Given the description of an element on the screen output the (x, y) to click on. 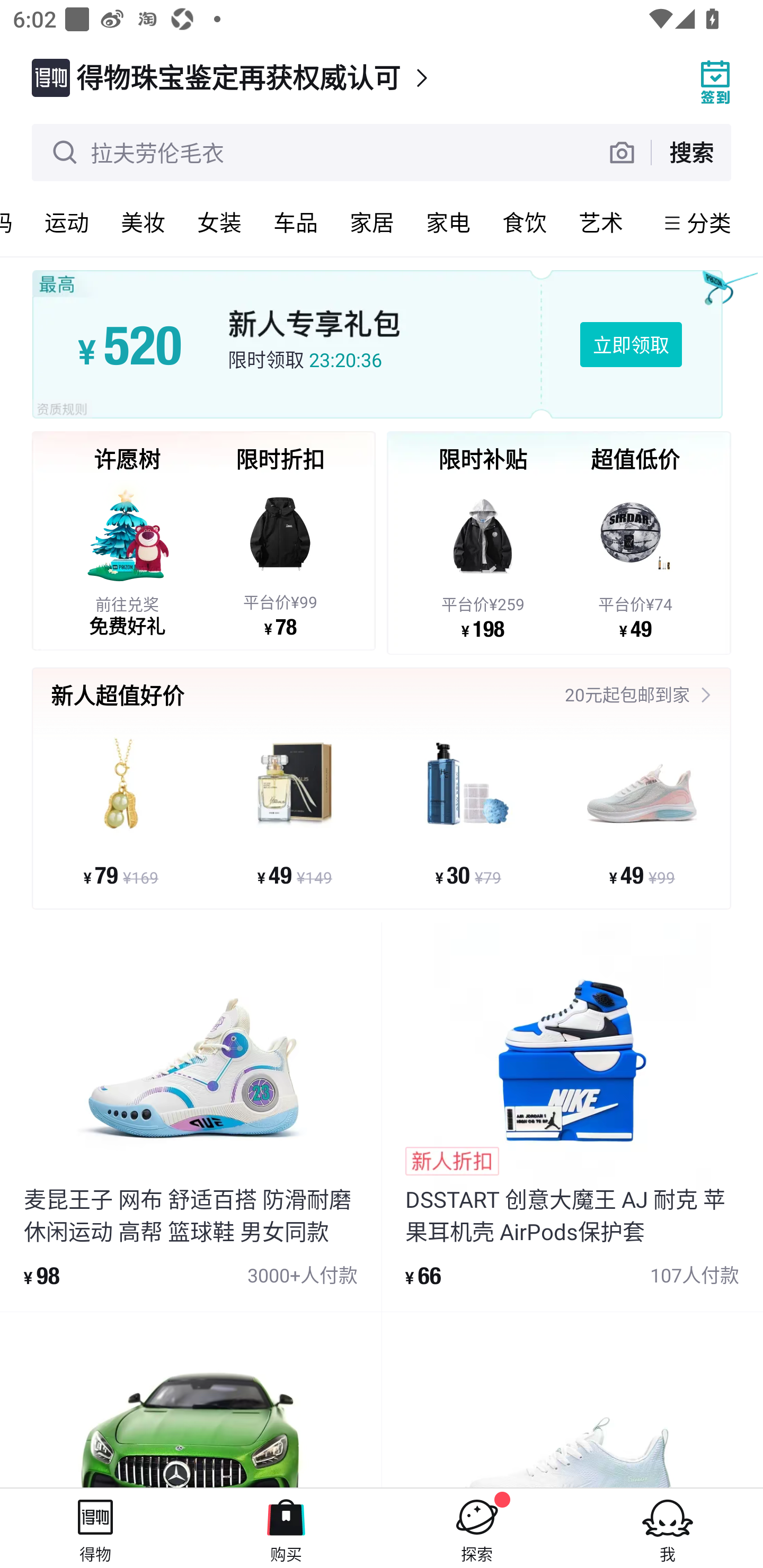
拉夫劳伦毛衣 搜索 (381, 152)
搜索 (690, 152)
运动 (66, 222)
美妆 (143, 222)
女装 (219, 222)
车品 (295, 222)
家居 (372, 222)
家电 (448, 222)
食饮 (524, 222)
艺术 (601, 222)
分类 (708, 222)
立即领取 (630, 343)
平台价¥99 ¥ 78 (279, 557)
前往兑奖 免费好礼 (127, 558)
平台价¥259 ¥ 198 (482, 559)
平台价¥74 ¥ 49 (635, 559)
¥ 79 ¥169 (121, 811)
¥ 49 ¥149 (294, 811)
¥ 30 ¥79 (468, 811)
¥ 49 ¥99 (641, 811)
得物 (95, 1528)
购买 (285, 1528)
探索 (476, 1528)
我 (667, 1528)
